Given the description of an element on the screen output the (x, y) to click on. 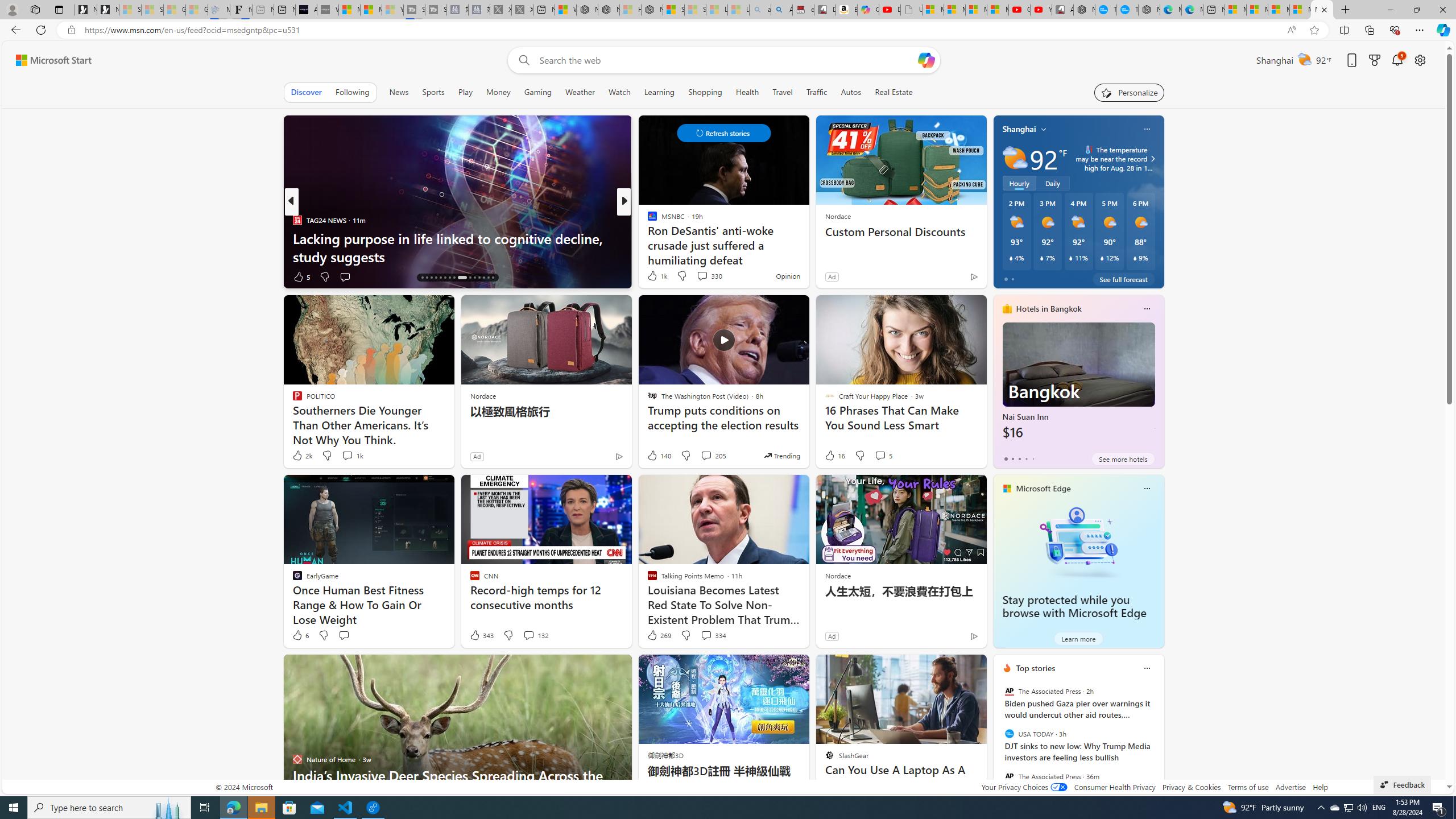
AutomationID: tab-26 (474, 277)
Nordace - Nordace Siena Is Not An Ordinary Backpack (652, 9)
What's the best AI voice generator? - voice.ai - Sleeping (327, 9)
Class: control (723, 132)
Personalize your feed" (1129, 92)
Partly sunny (1014, 158)
Privacy & Cookies (1191, 786)
